Given the description of an element on the screen output the (x, y) to click on. 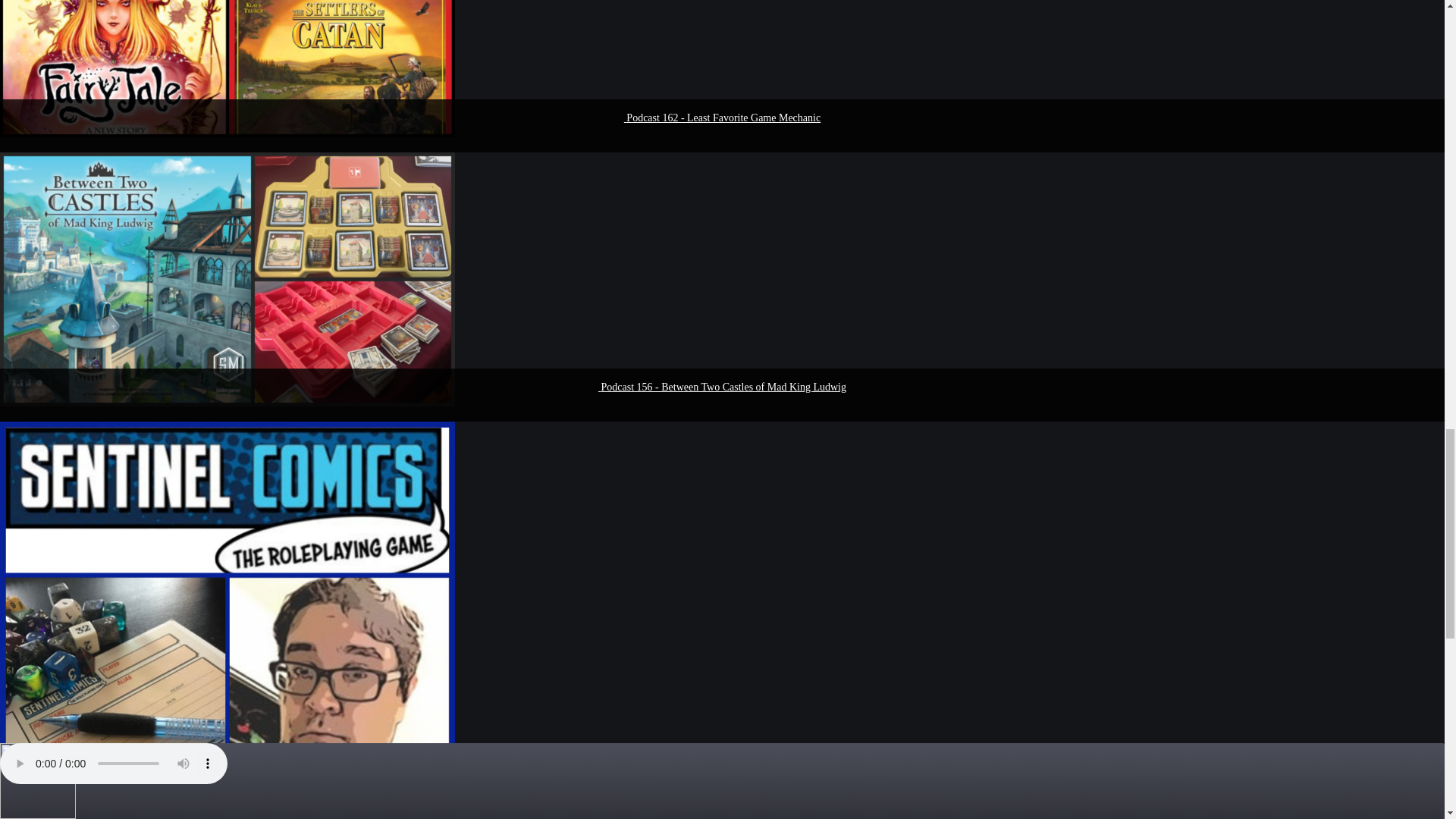
Podcast 156 - Between Two Castles of Mad King Ludwig (723, 387)
Podcast 162 - Least Favorite Game Mechanic (723, 117)
